Given the description of an element on the screen output the (x, y) to click on. 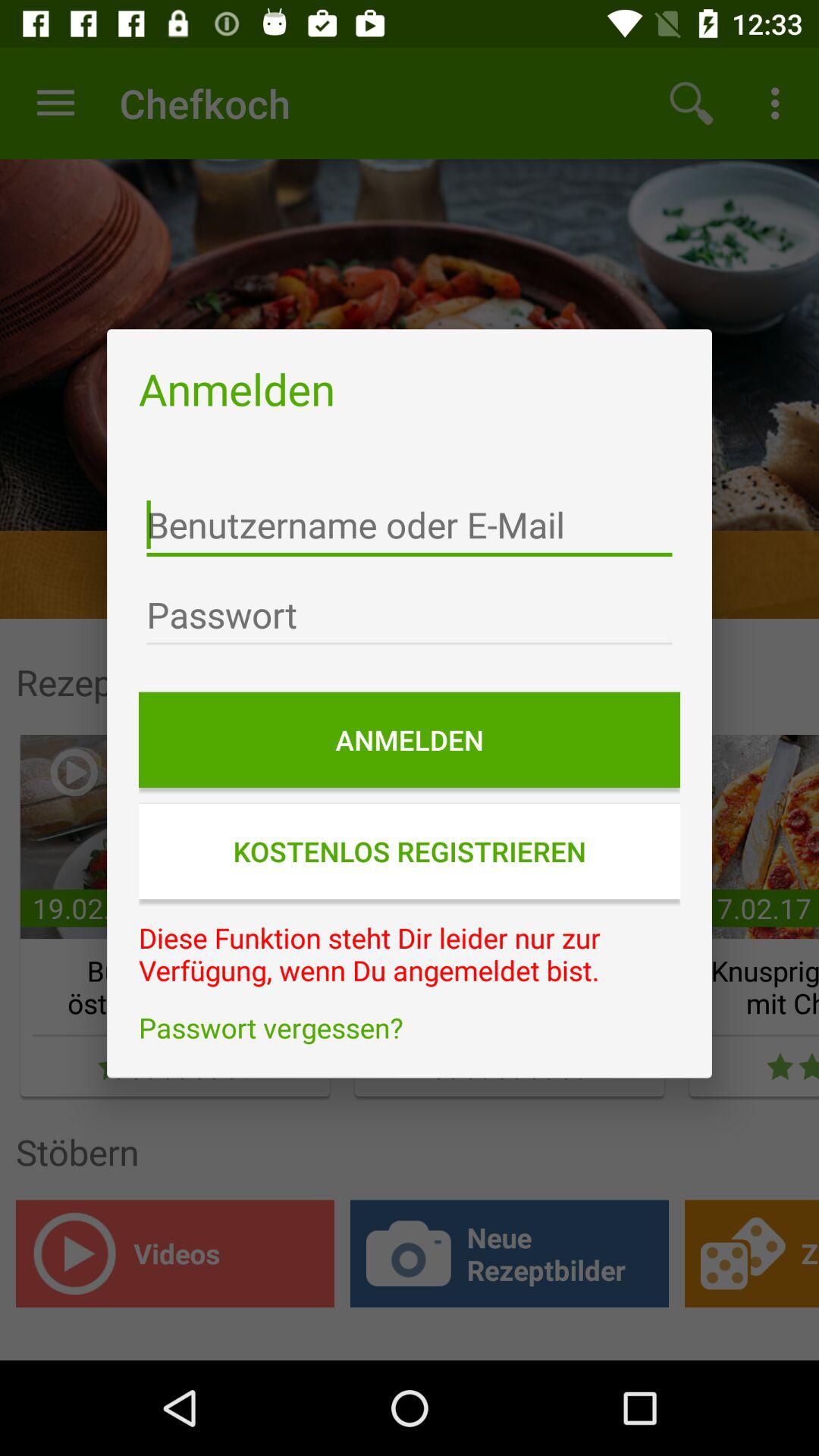
click the icon at the bottom (409, 1027)
